Given the description of an element on the screen output the (x, y) to click on. 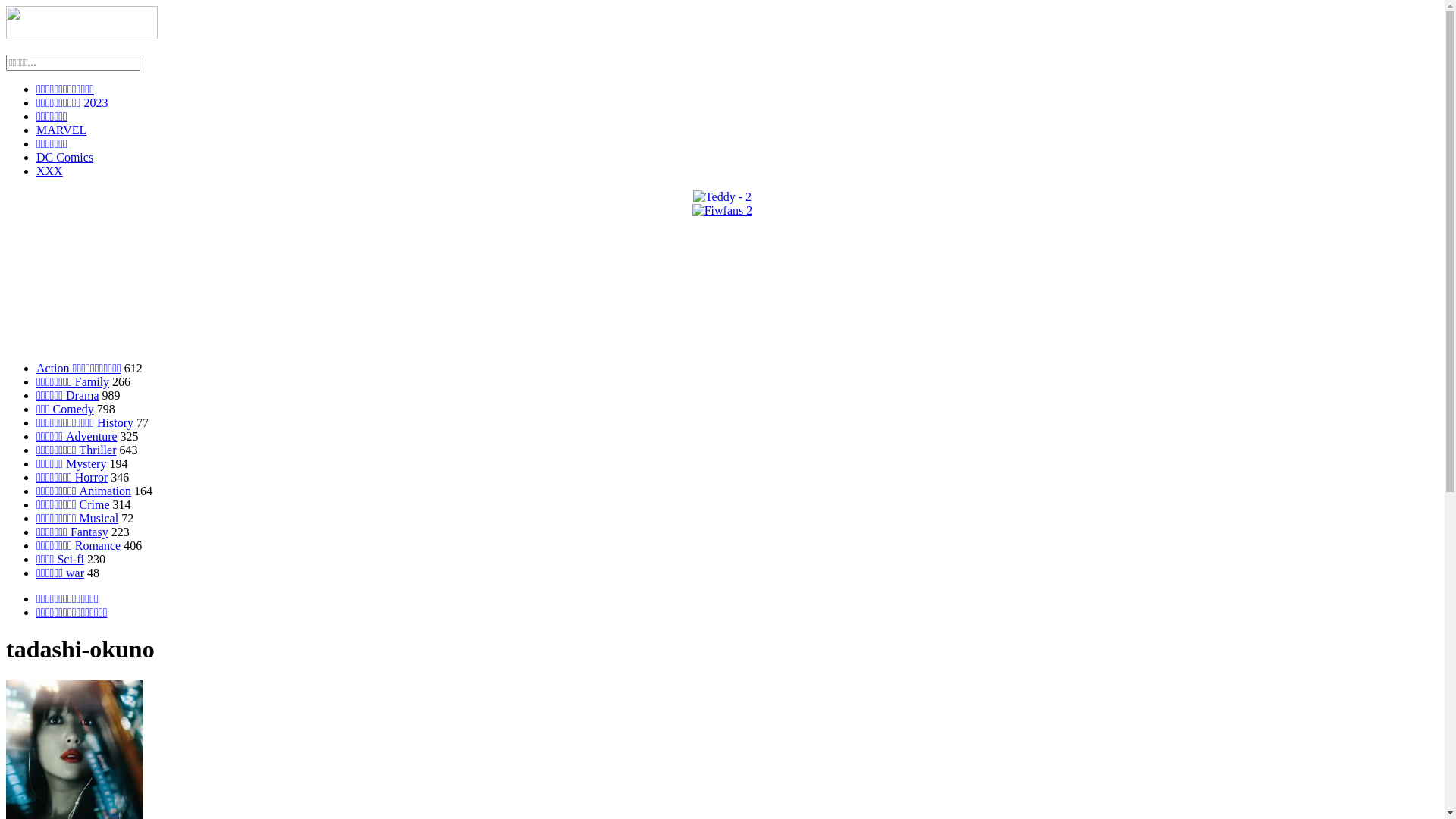
XXX Element type: text (49, 170)
Fiwfans 2 Element type: hover (721, 210)
MARVEL Element type: text (61, 129)
DC Comics Element type: text (64, 156)
Teddy - 2 Element type: hover (721, 196)
